Given the description of an element on the screen output the (x, y) to click on. 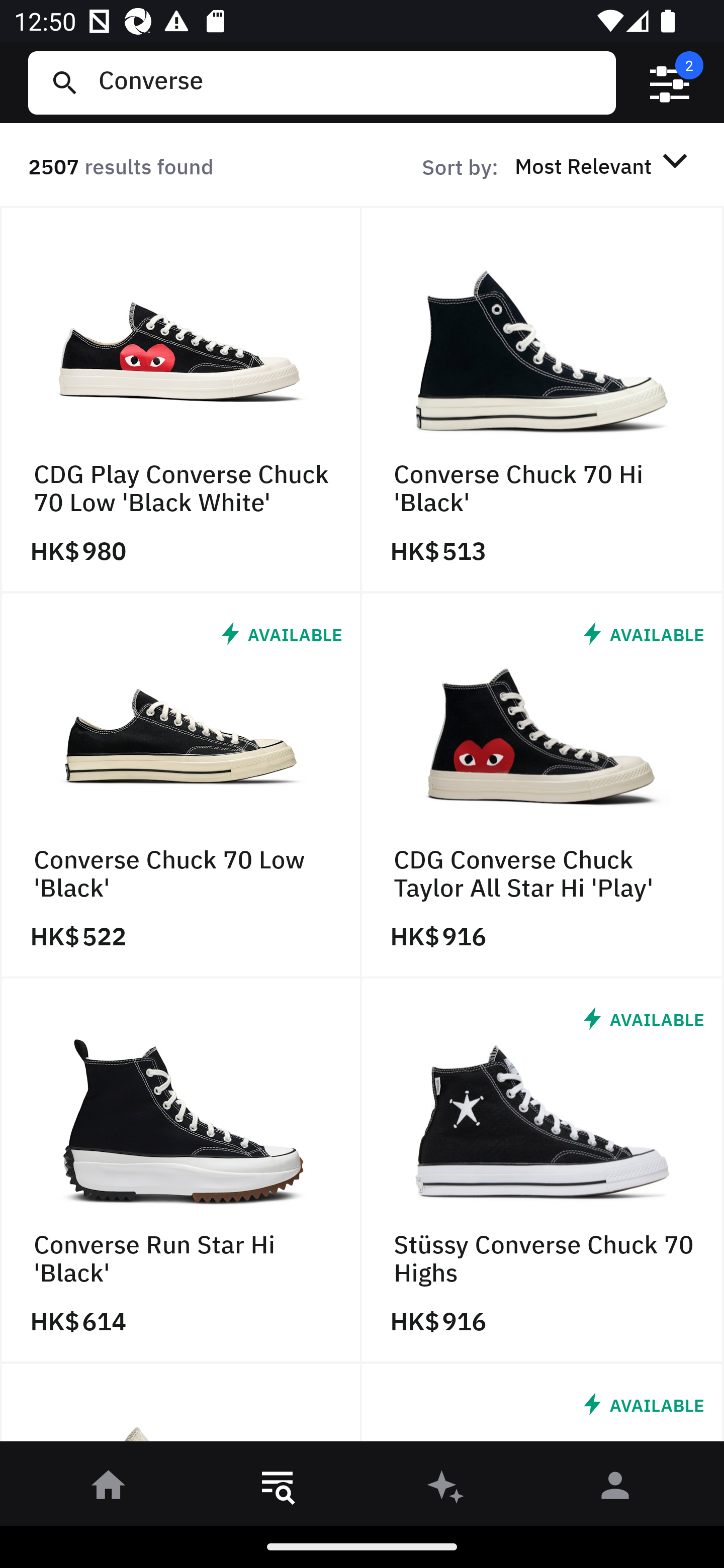
Converse (349, 82)
 (669, 82)
Most Relevant  (604, 165)
Converse Chuck 70 Hi 'Black' HK$ 513 (543, 399)
 AVAILABLE Converse Chuck 70 Low 'Black' HK$ 522 (181, 785)
Converse Run Star Hi 'Black' HK$ 614 (181, 1171)
 AVAILABLE Stüssy Converse Chuck 70 Highs HK$ 916 (543, 1171)
󰋜 (108, 1488)
󱎸 (277, 1488)
󰫢 (446, 1488)
󰀄 (615, 1488)
